Given the description of an element on the screen output the (x, y) to click on. 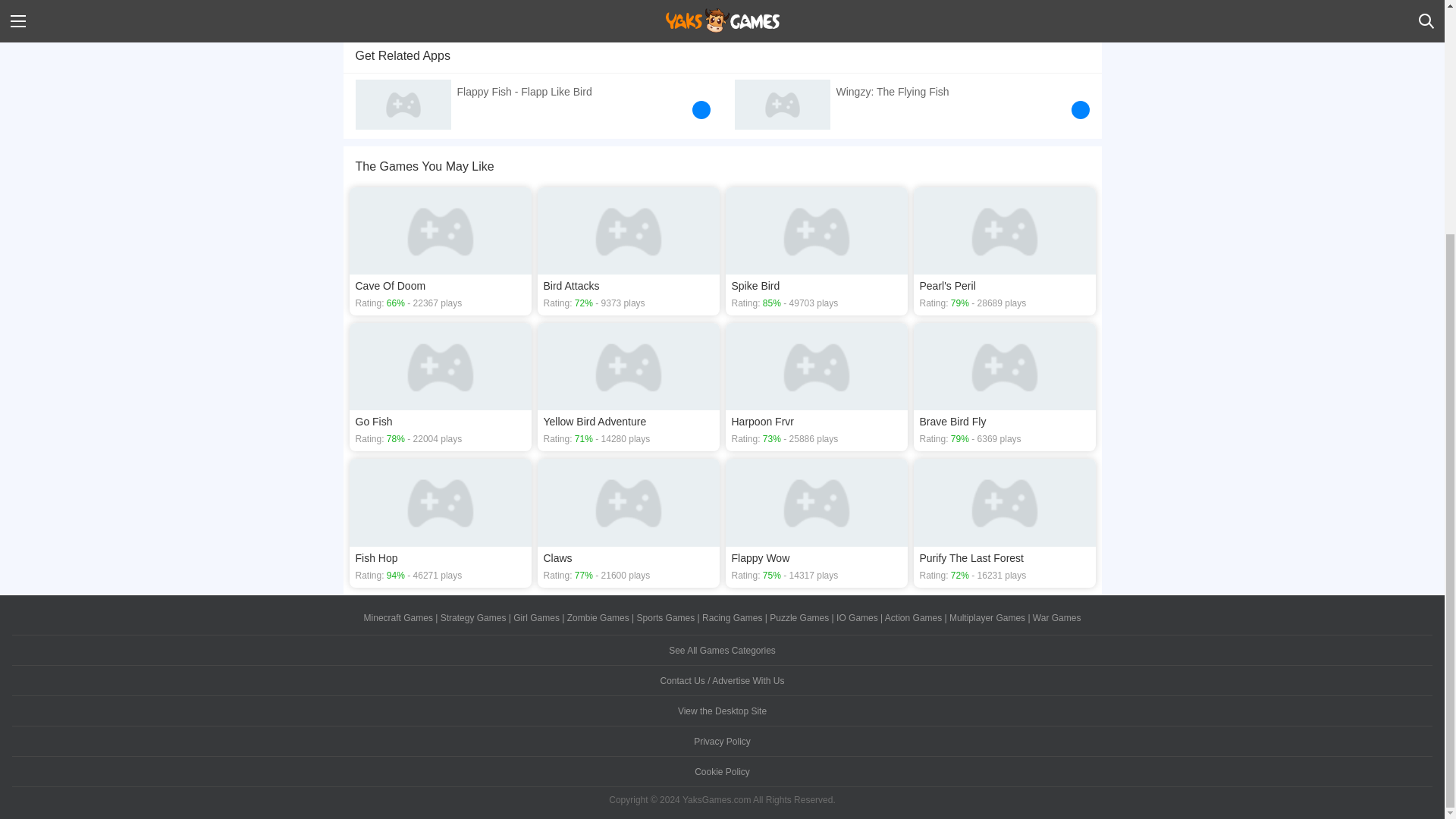
Flappy Fish - Flapp Like Bird (532, 102)
Wingzy: The Flying Fish (911, 102)
Brave Bird Fly (1003, 386)
Cave Of Doom (440, 251)
Bird Attacks (628, 251)
Yellow Bird Adventure (628, 386)
Spike Bird (816, 251)
Fish Hop (440, 522)
Go Fish (440, 386)
Pearl's Peril (1003, 251)
Harpoon Frvr (816, 386)
